Given the description of an element on the screen output the (x, y) to click on. 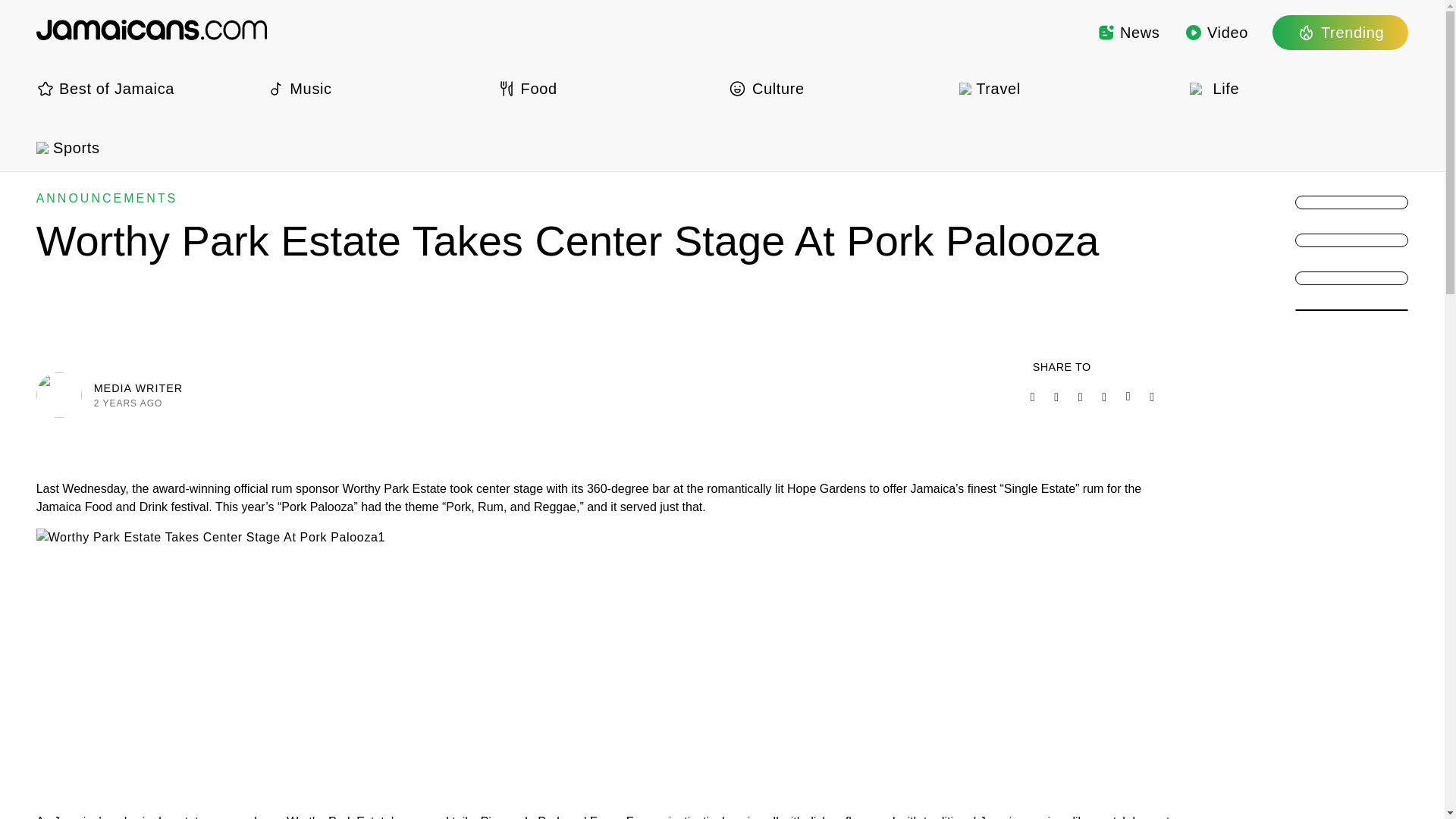
ANNOUNCEMENTS (106, 197)
Best of Jamaica (145, 88)
Culture (837, 88)
Video (1216, 32)
Food (606, 88)
Life (1298, 88)
News (1128, 32)
Sports (145, 147)
Trending (1339, 32)
Travel (1068, 88)
Music (375, 88)
